Given the description of an element on the screen output the (x, y) to click on. 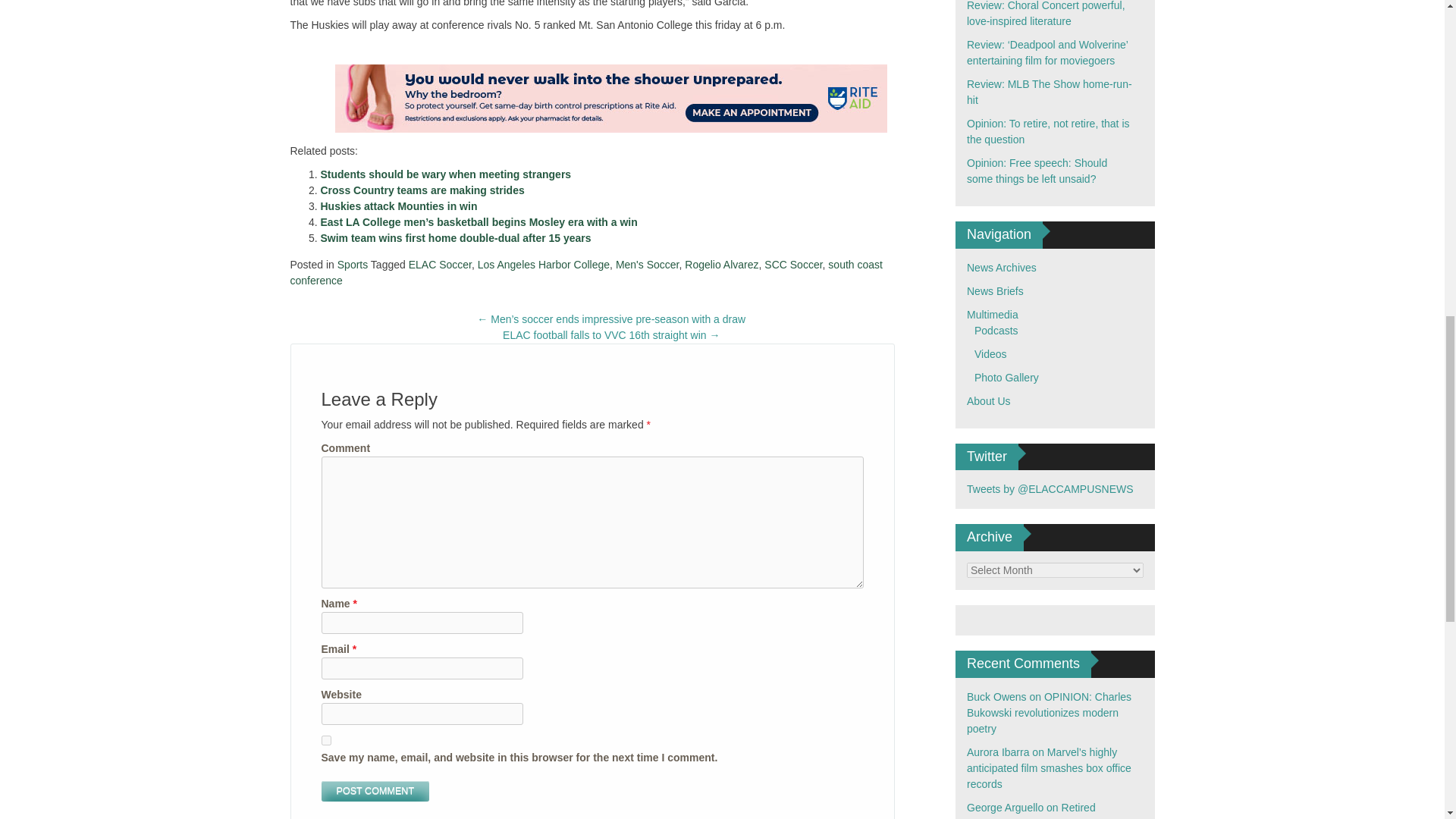
Cross Country teams are making strides (422, 190)
Students should be wary when meeting strangers (445, 174)
Swim  team wins first home double-dual after 15 years (455, 237)
Huskies attack Mounties in win (398, 205)
yes (326, 740)
Cross Country teams are making strides (422, 190)
Men's Soccer (647, 264)
Huskies attack Mounties in win (398, 205)
Sports (352, 264)
Los Angeles Harbor College (543, 264)
Swim team wins first home double-dual after 15 years (455, 237)
Students should be wary when meeting strangers (445, 174)
Rogelio Alvarez (721, 264)
south coast conference (585, 272)
ELAC Soccer (440, 264)
